Given the description of an element on the screen output the (x, y) to click on. 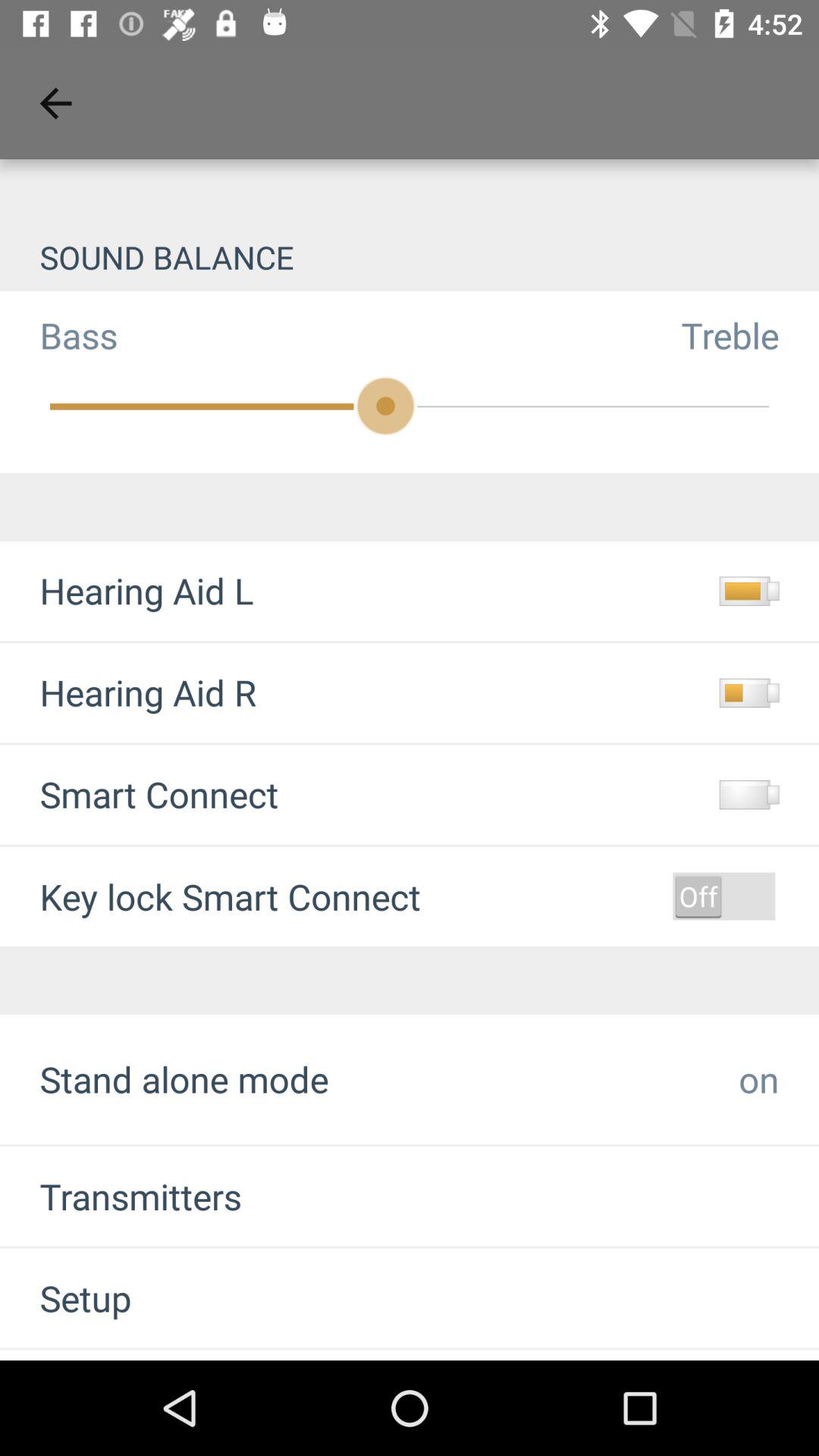
choose item at the top right corner (750, 335)
